Given the description of an element on the screen output the (x, y) to click on. 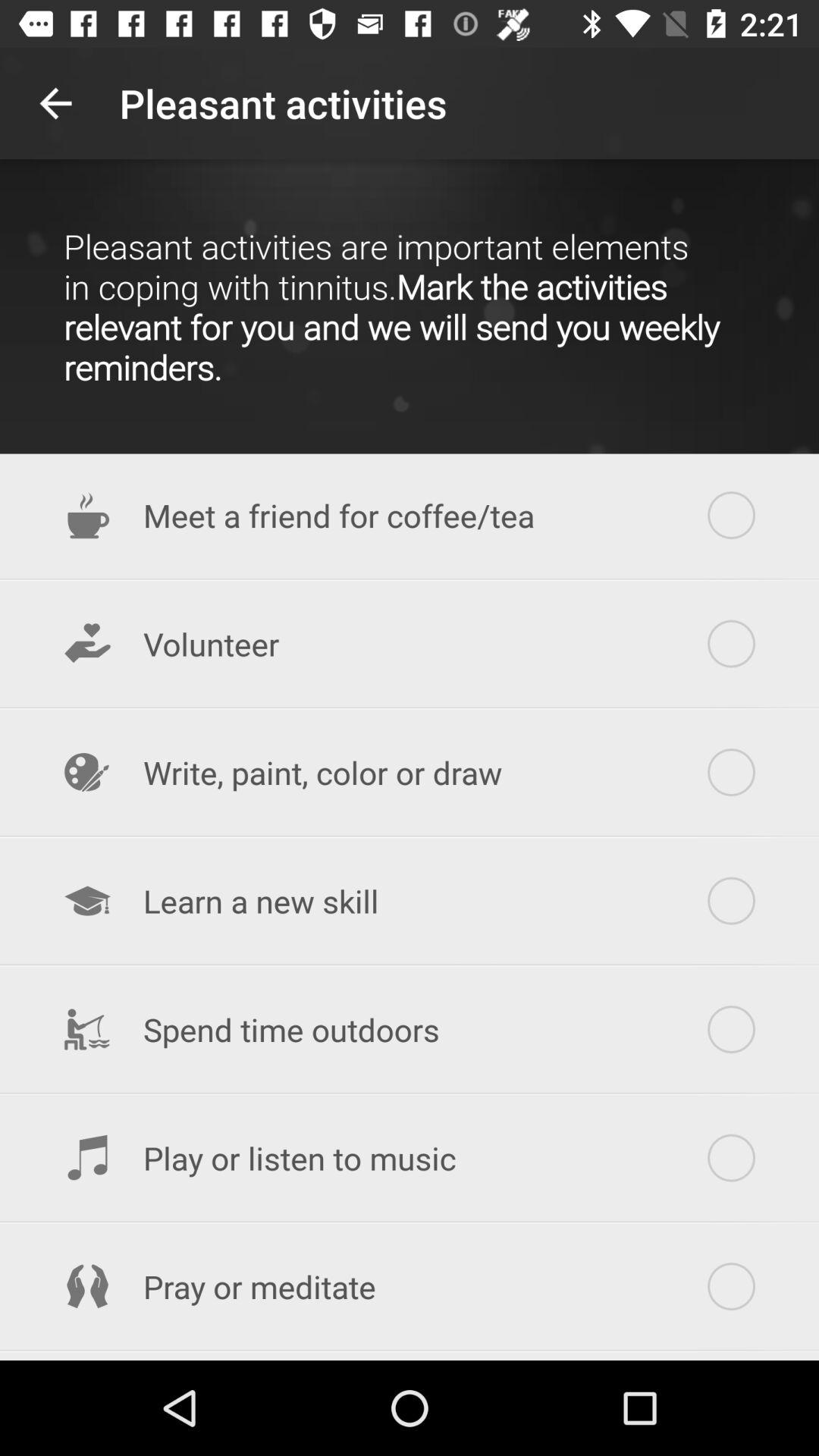
turn off icon above the pleasant activities are (55, 103)
